Given the description of an element on the screen output the (x, y) to click on. 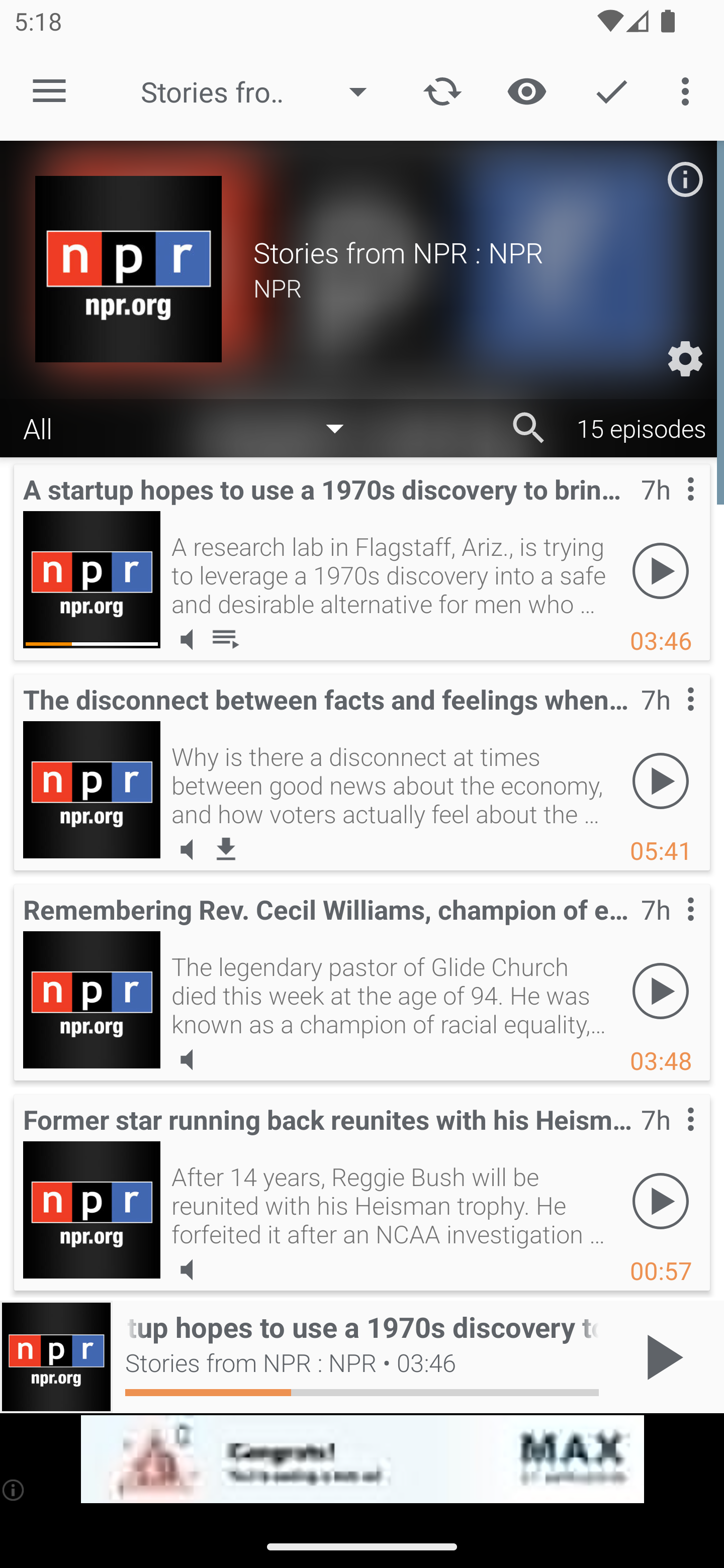
Open navigation sidebar (49, 91)
Update (442, 90)
Show / Hide played content (526, 90)
Action Mode (611, 90)
More options (688, 90)
Stories from NPR : NPR (263, 91)
Podcast description (685, 179)
NPR (470, 287)
Custom Settings (685, 358)
Search (528, 428)
All (192, 428)
Contextual menu (668, 508)
Play (660, 571)
Contextual menu (668, 718)
Play (660, 780)
Contextual menu (668, 928)
Play (660, 990)
Contextual menu (668, 1138)
Play (660, 1200)
Play / Pause (660, 1356)
app-monetization (362, 1459)
(i) (14, 1489)
